Given the description of an element on the screen output the (x, y) to click on. 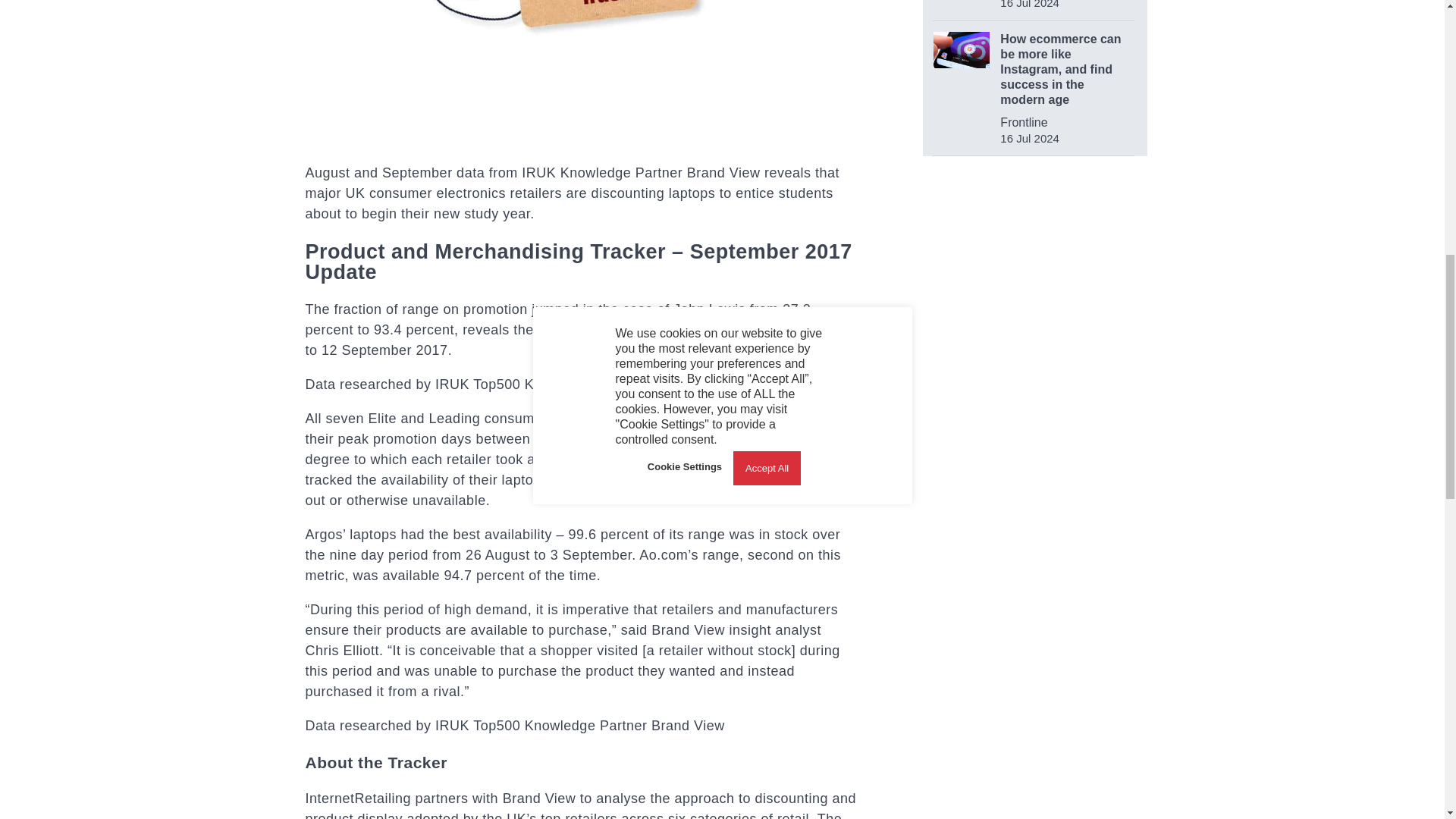
3rd party ad content (1035, 485)
3rd party ad content (1034, 273)
